Given the description of an element on the screen output the (x, y) to click on. 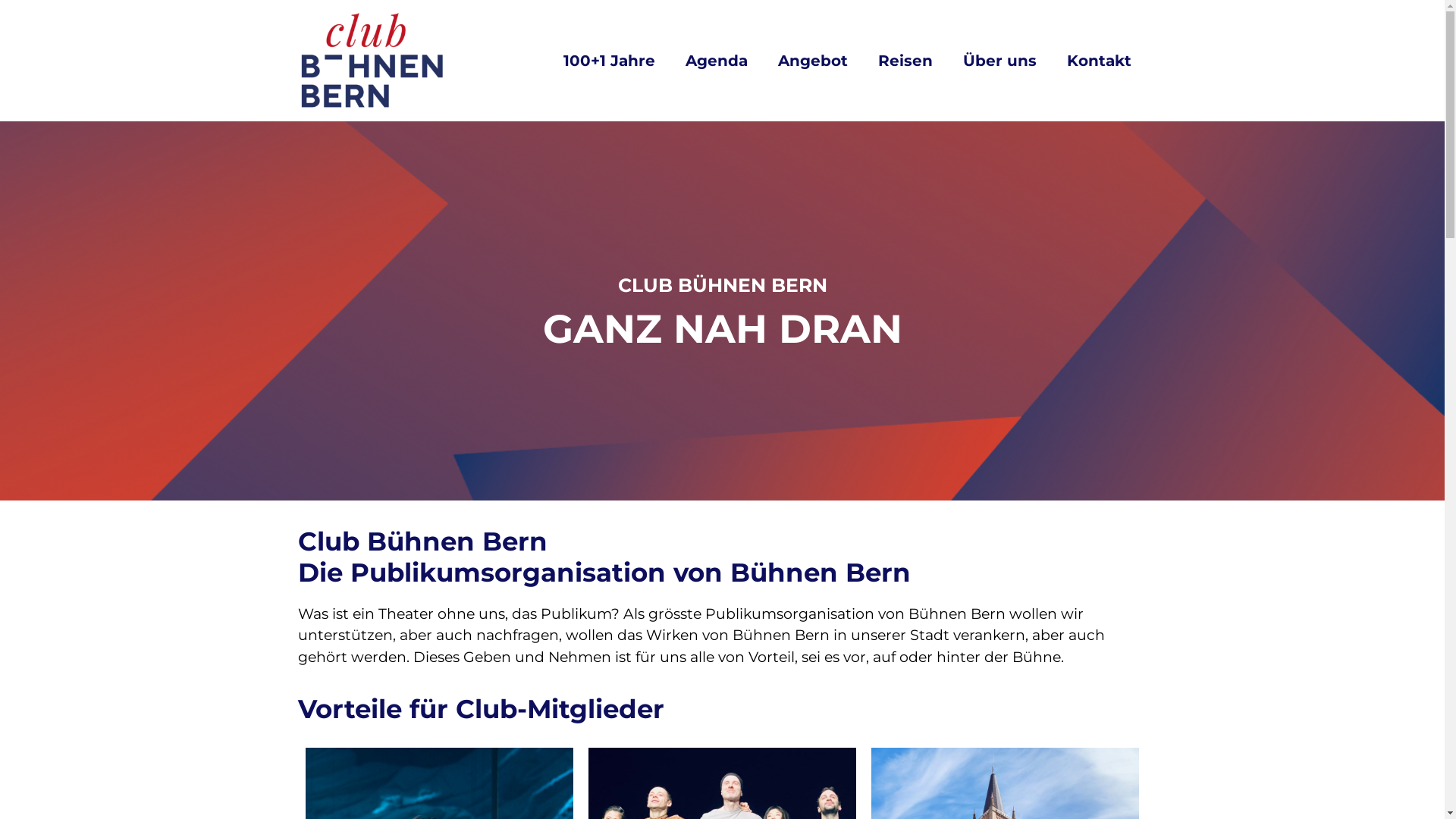
Angebot Element type: text (812, 60)
Kontakt Element type: text (1098, 60)
100+1 Jahre Element type: text (609, 60)
Reisen Element type: text (904, 60)
Agenda Element type: text (716, 60)
